Given the description of an element on the screen output the (x, y) to click on. 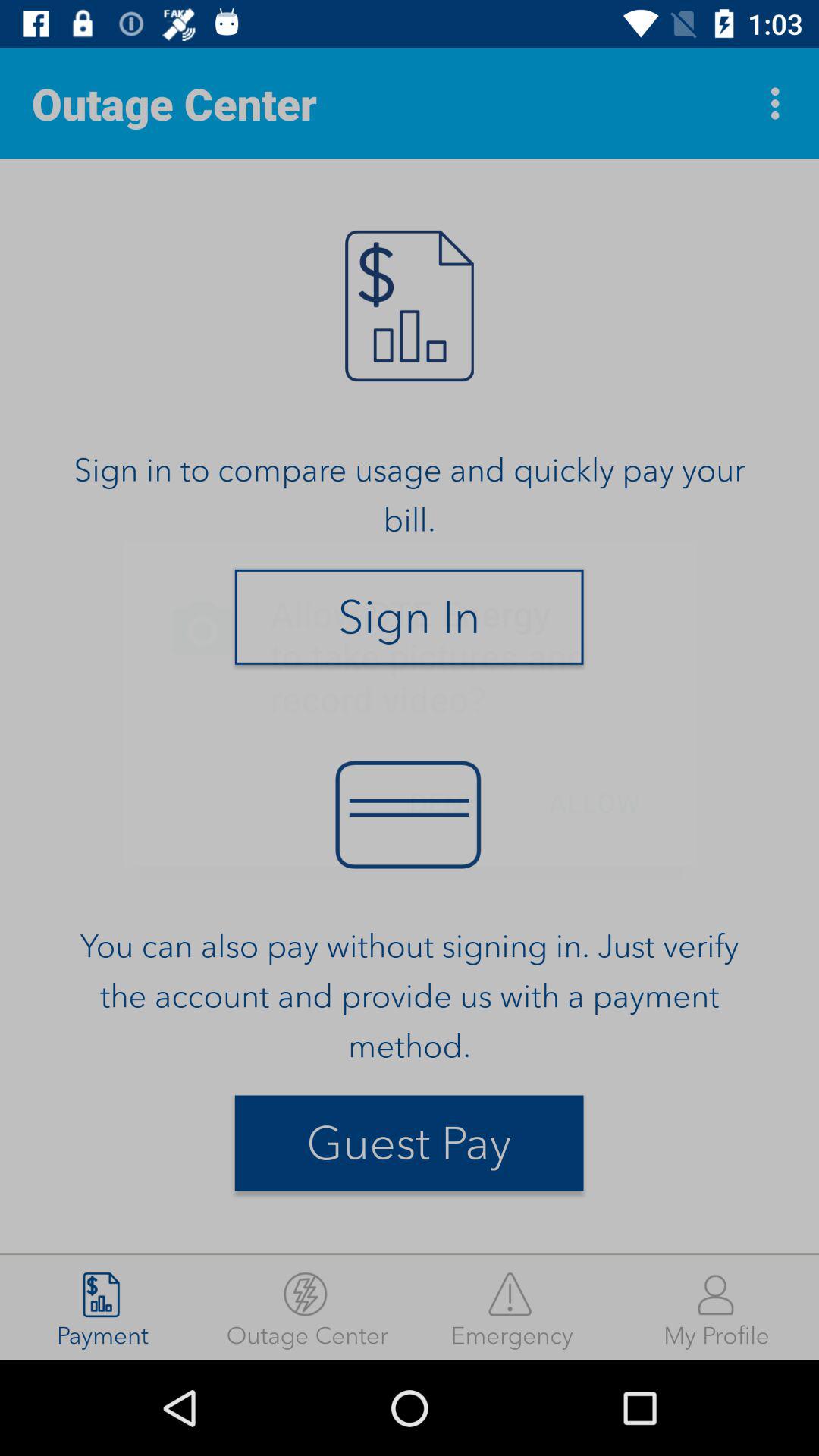
turn off the item next to outage center item (511, 1307)
